Given the description of an element on the screen output the (x, y) to click on. 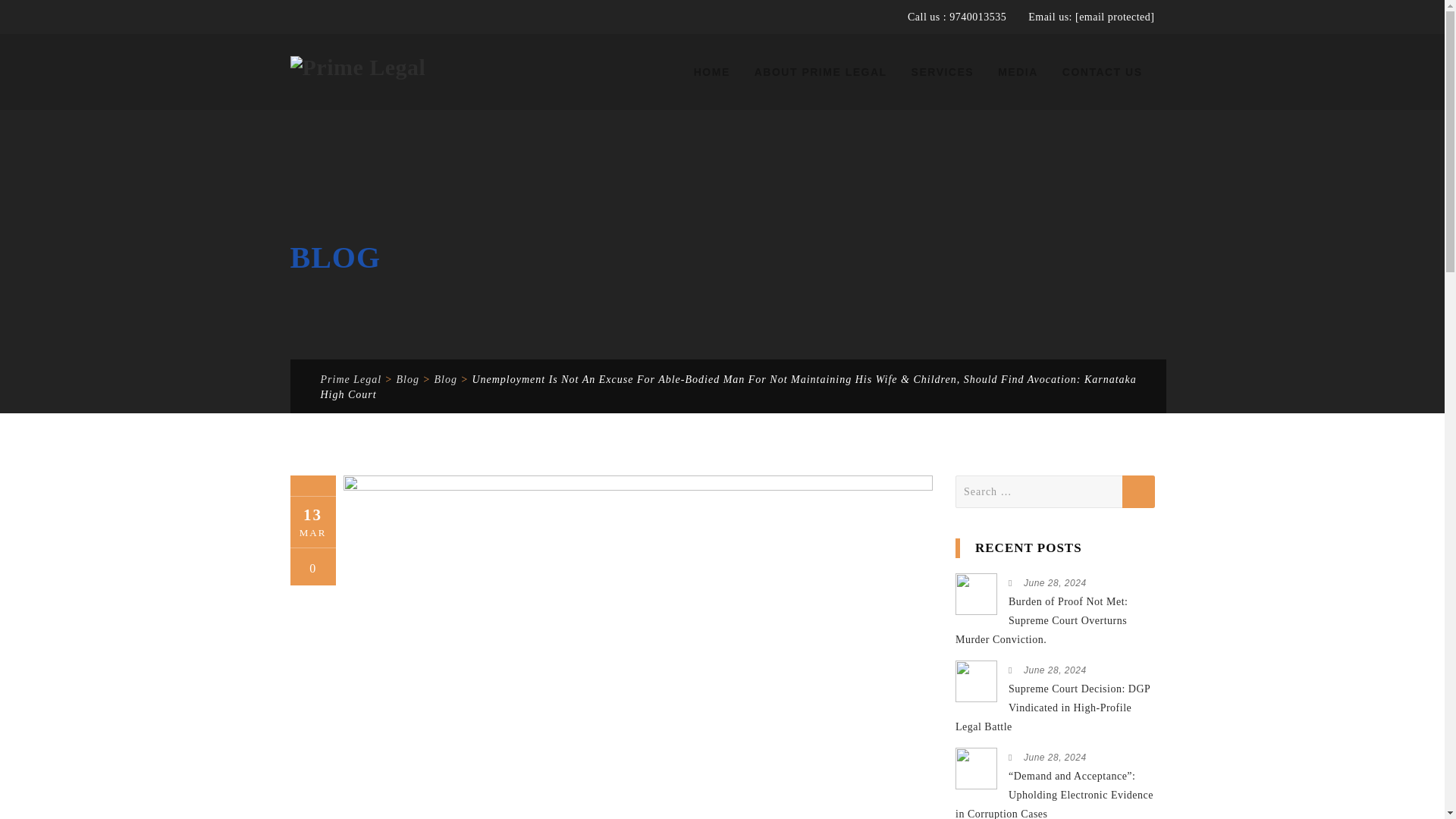
ABOUT PRIME LEGAL (820, 71)
CONTACT US (1102, 71)
Search (1138, 491)
9740013535 (976, 16)
Prime Legal (350, 378)
Blog (445, 378)
Prime Legal (357, 71)
Blog (407, 378)
Search (1138, 491)
Search (1138, 491)
